Given the description of an element on the screen output the (x, y) to click on. 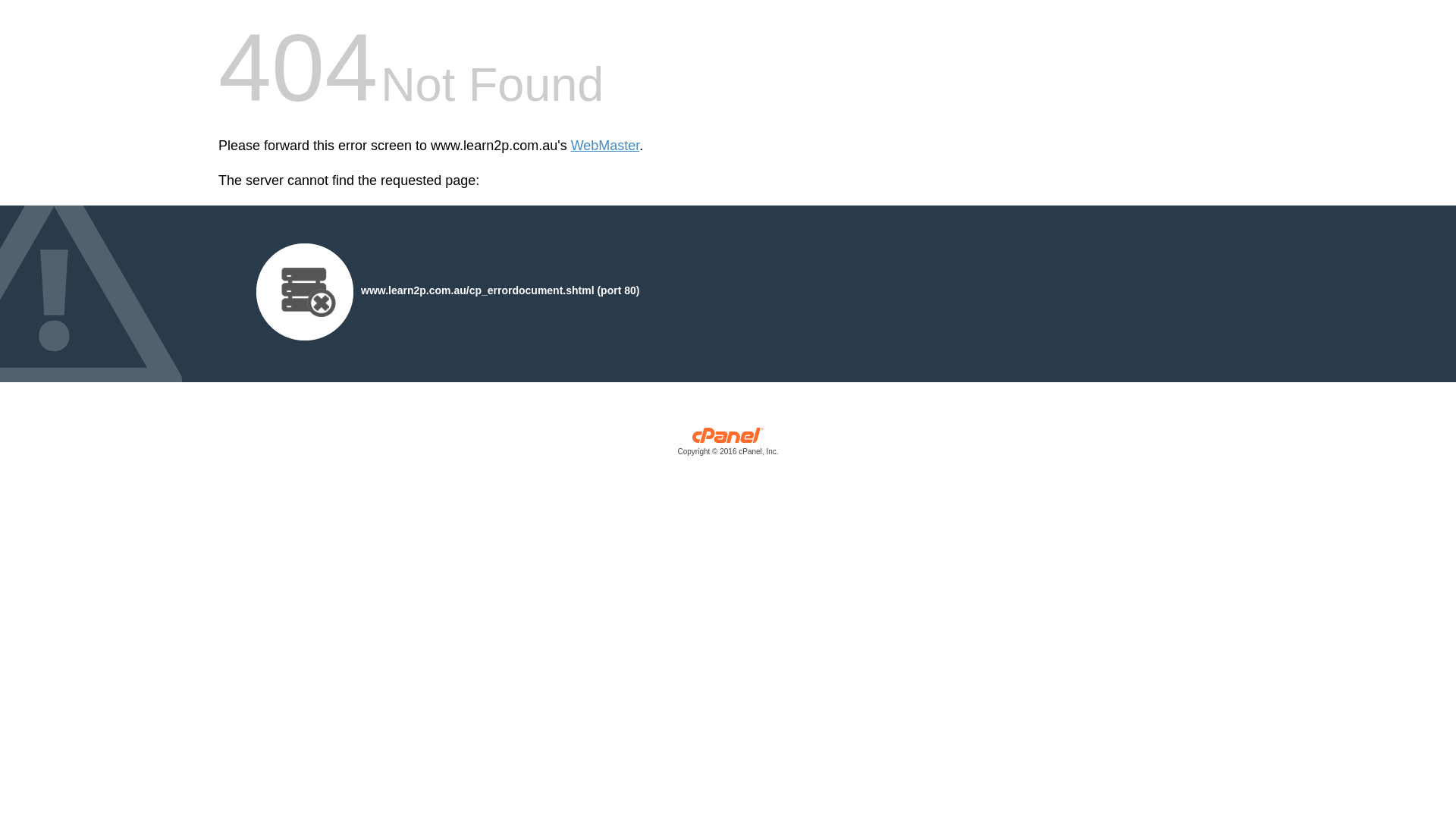
WebMaster Element type: text (605, 145)
